Given the description of an element on the screen output the (x, y) to click on. 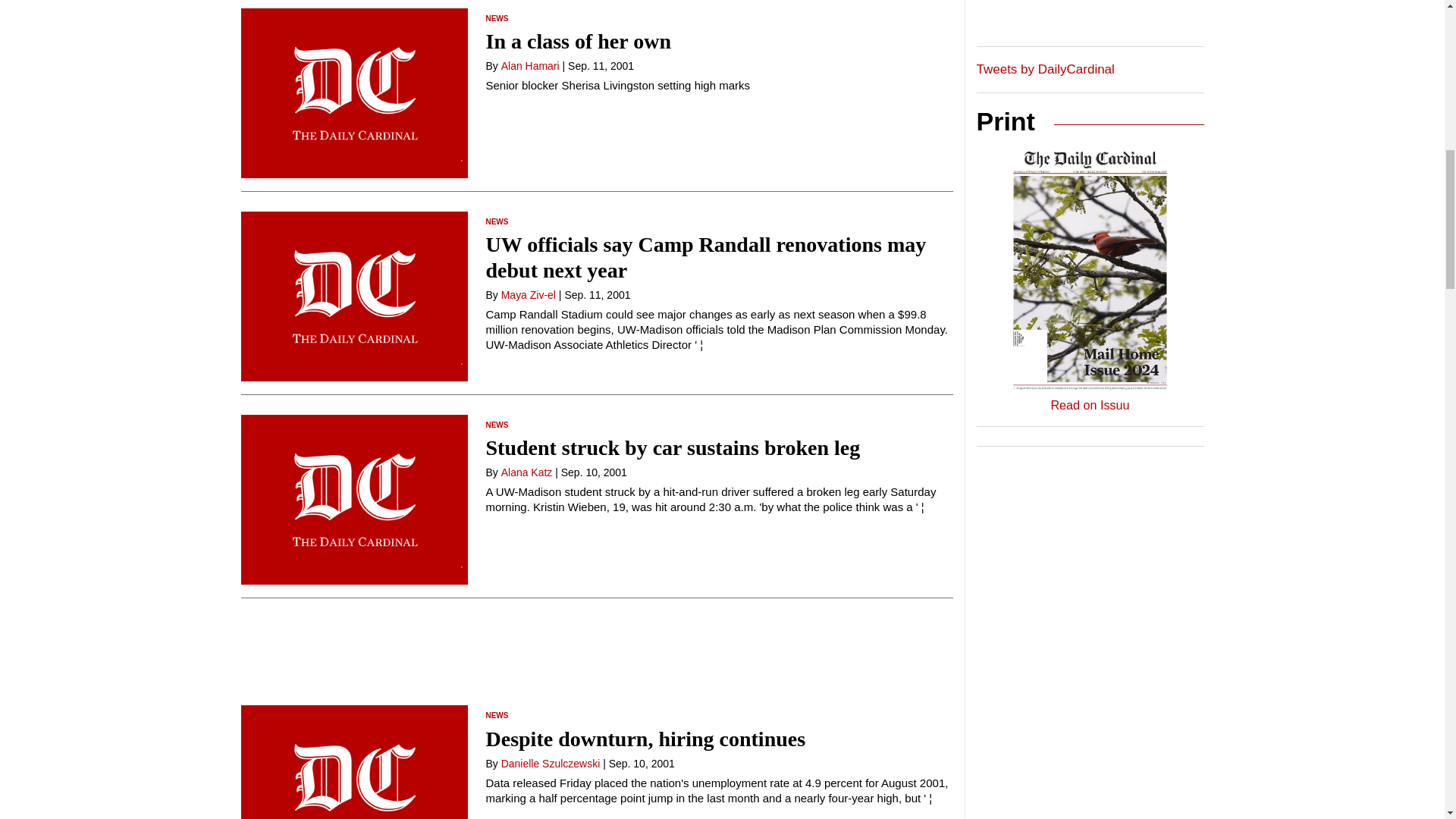
In a class of her own (577, 41)
Student struck by car sustains broken leg (672, 447)
Despite downturn, hiring continues (644, 739)
